Given the description of an element on the screen output the (x, y) to click on. 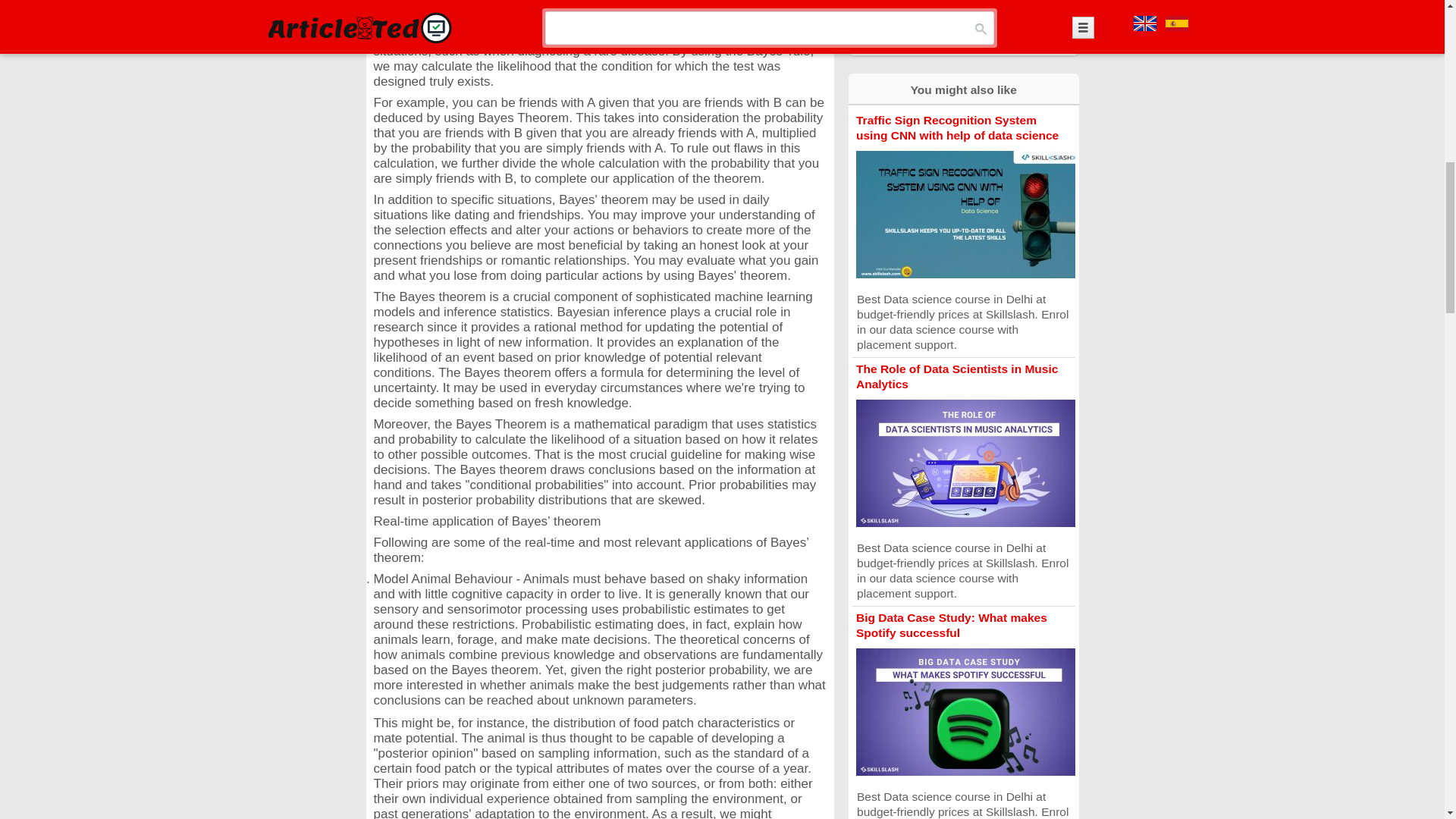
The Role of Data Scientists in Music Analytics (957, 376)
Big Data Case Study: What makes Spotify successful (951, 624)
